Given the description of an element on the screen output the (x, y) to click on. 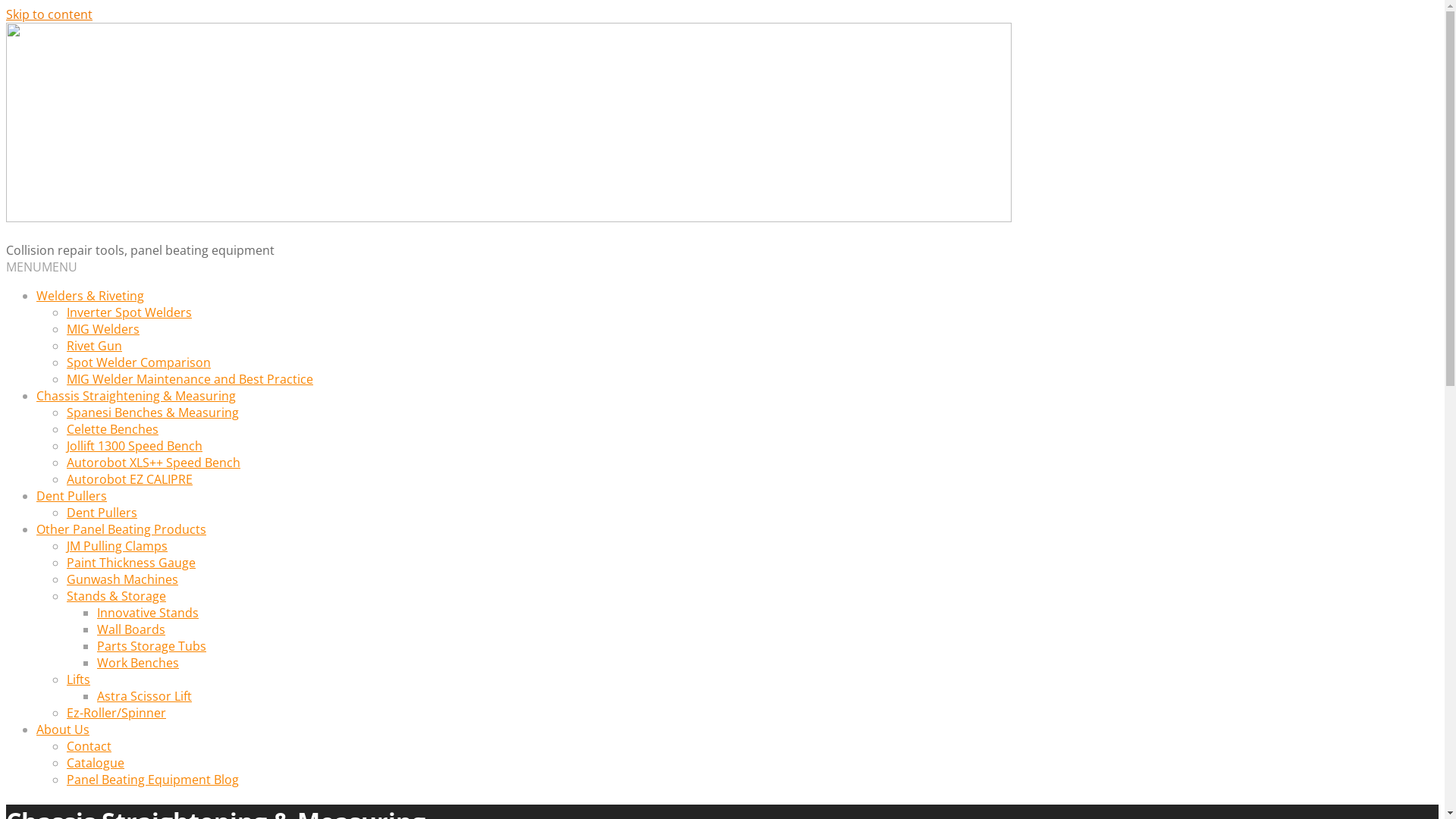
Celette Benches Element type: text (112, 428)
Paint Thickness Gauge Element type: text (130, 562)
MIG Welders Element type: text (102, 328)
Welders & Riveting Element type: text (90, 295)
Parts Storage Tubs Element type: text (151, 645)
Spot Welder Comparison Element type: text (138, 362)
Gunwash Machines Element type: text (122, 579)
Inverter Spot Welders Element type: text (128, 312)
Stands & Storage Element type: text (116, 595)
Work Benches Element type: text (137, 662)
Jollift 1300 Speed Bench Element type: text (134, 445)
Spanesi Benches & Measuring Element type: text (152, 412)
Rivet Gun Element type: text (94, 345)
Ez-Roller/Spinner Element type: text (116, 712)
About Us Element type: text (62, 729)
Skip to content Element type: text (49, 14)
Innovative Stands Element type: text (147, 612)
Lifts Element type: text (78, 679)
Other Panel Beating Products Element type: text (121, 528)
Contact Element type: text (88, 745)
Chassis Straightening & Measuring Element type: text (135, 395)
JM Pulling Clamps Element type: text (116, 545)
Astra Scissor Lift Element type: text (144, 695)
Panel Beating Equipment Blog Element type: text (152, 779)
Catalogue Element type: text (95, 762)
Dent Pullers Element type: text (71, 495)
Autorobot EZ CALIPRE Element type: text (129, 478)
Dent Pullers Element type: text (101, 512)
Autorobot XLS++ Speed Bench Element type: text (153, 462)
Wall Boards Element type: text (131, 629)
MIG Welder Maintenance and Best Practice Element type: text (189, 378)
